Given the description of an element on the screen output the (x, y) to click on. 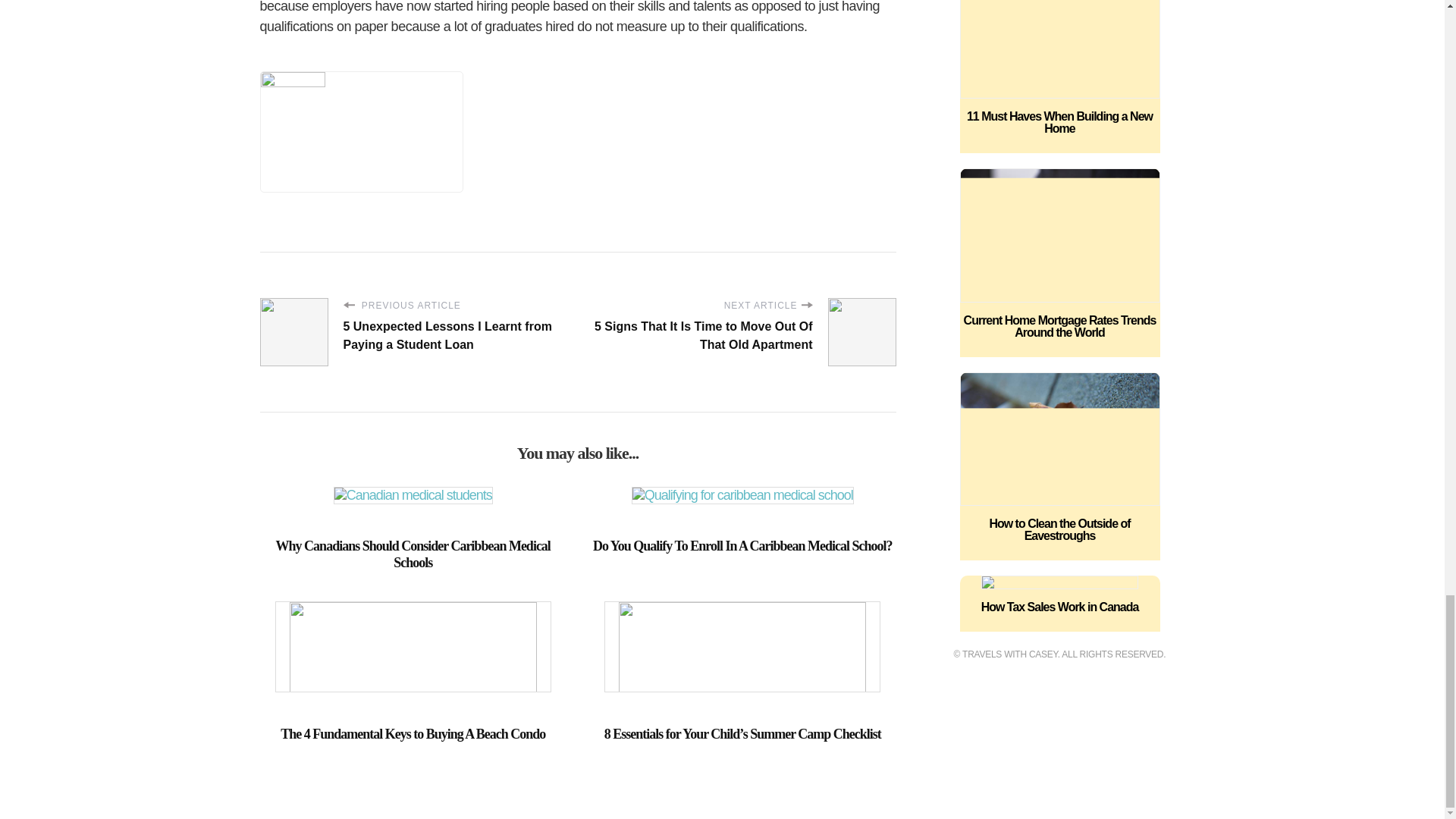
Why Canadians Should Consider Caribbean Medical Schools (412, 554)
Do You Qualify To Enroll In A Caribbean Medical School? (742, 546)
The 4 Fundamental Keys to Buying A Beach Condo (412, 734)
